Given the description of an element on the screen output the (x, y) to click on. 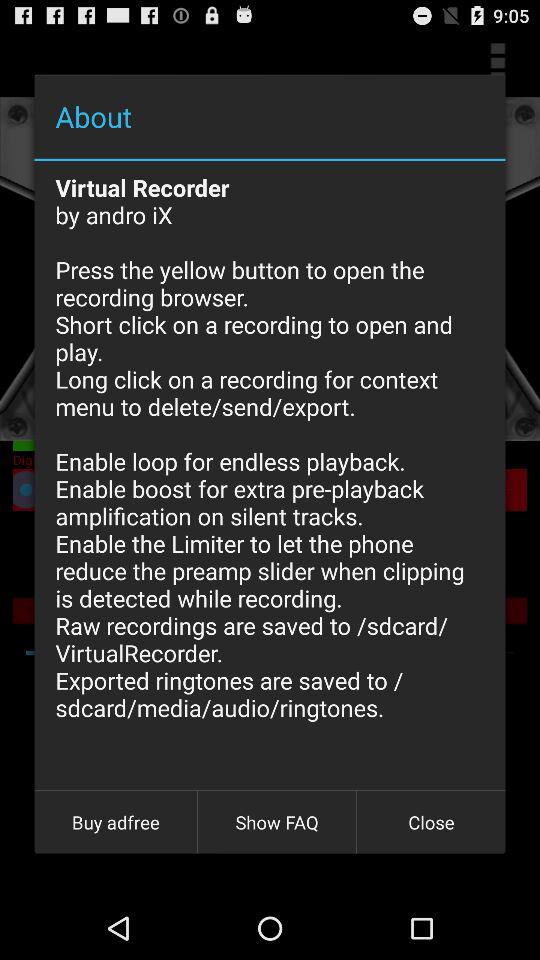
select the button to the left of the show faq (115, 821)
